Given the description of an element on the screen output the (x, y) to click on. 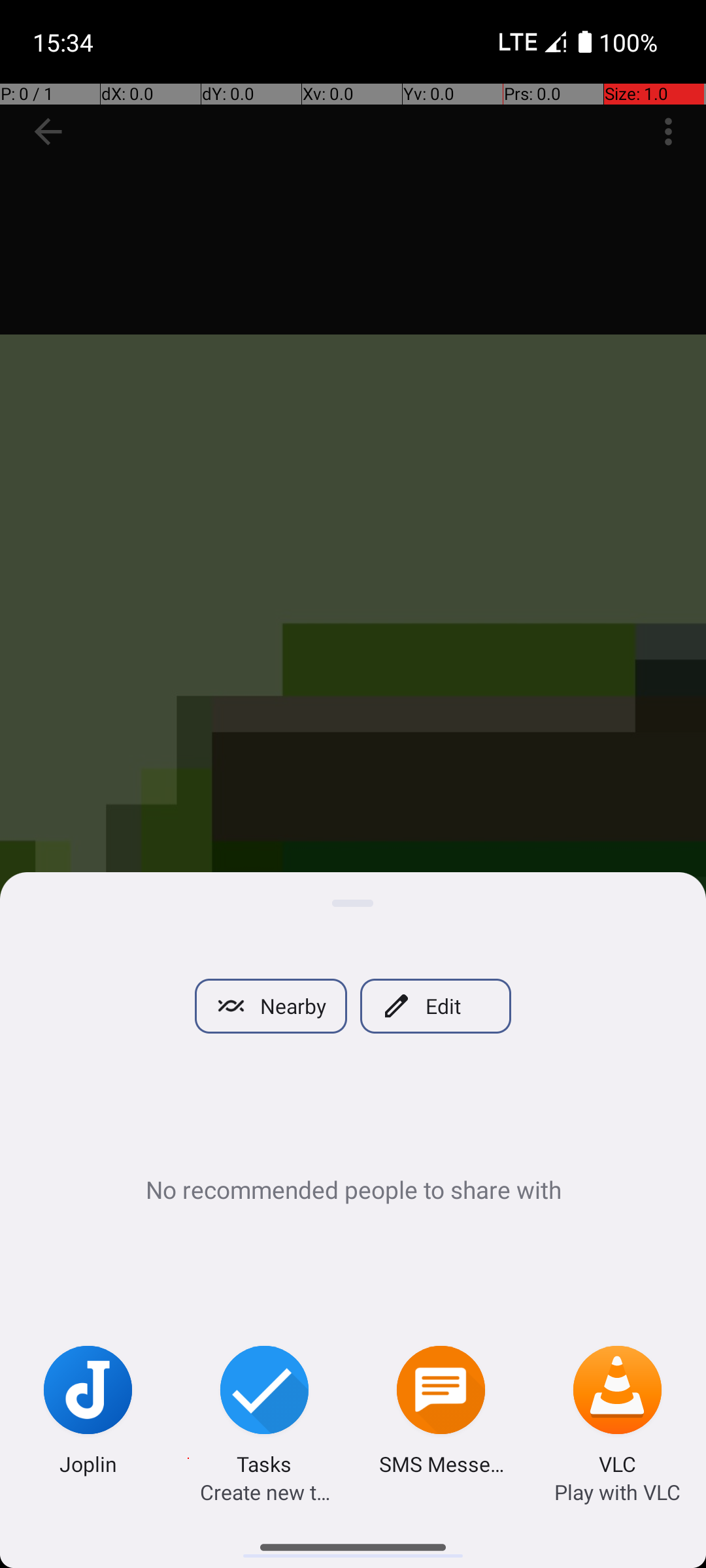
Play with VLC Element type: android.widget.TextView (617, 1491)
